Given the description of an element on the screen output the (x, y) to click on. 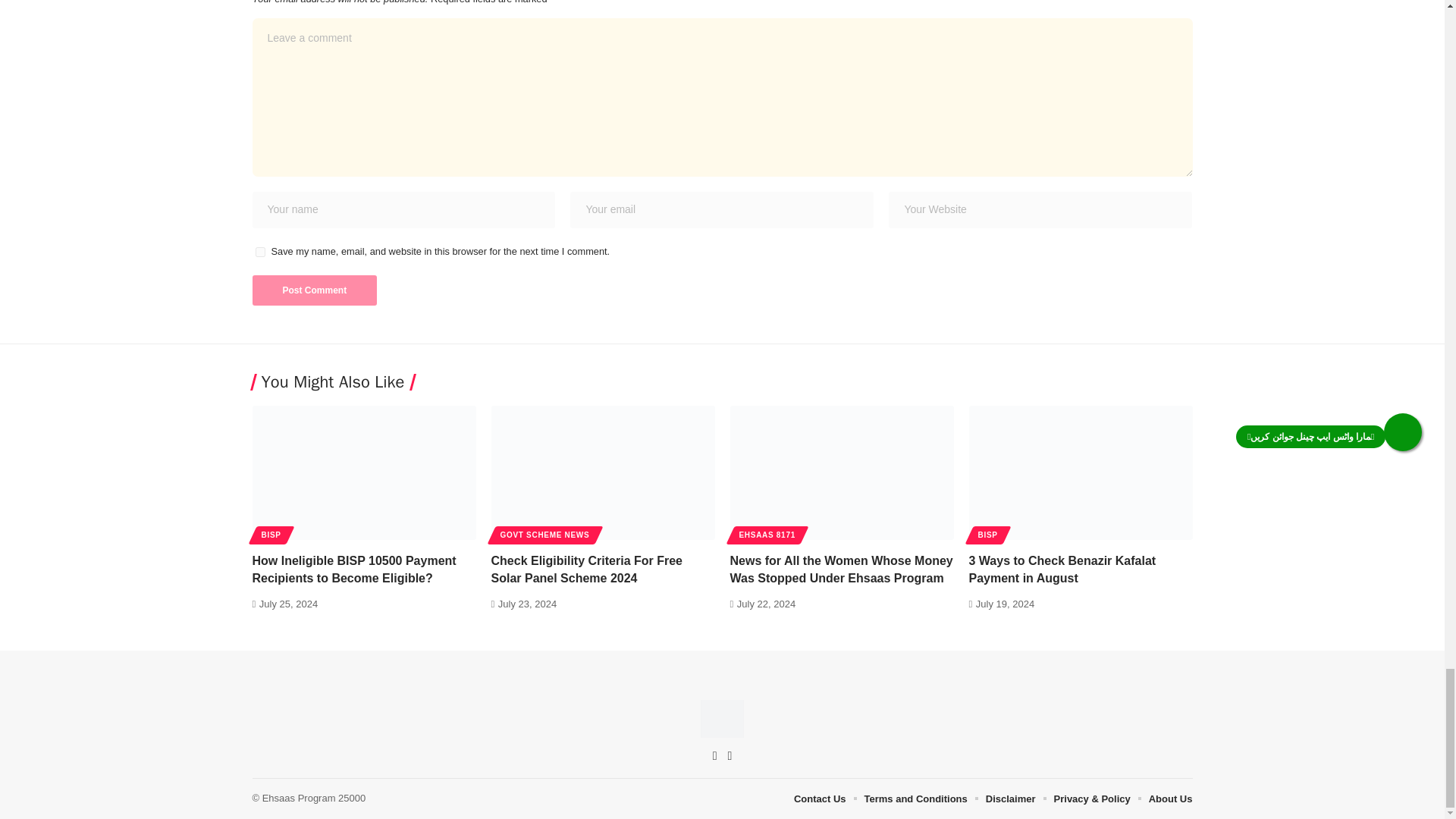
yes (259, 252)
3 Ways to Check Benazir Kafalat Payment in August (1080, 472)
Post Comment (314, 290)
8171 Ehsaas Program BISP (722, 718)
Check Eligibility Criteria For Free Solar Panel Scheme 2024 (603, 472)
